Given the description of an element on the screen output the (x, y) to click on. 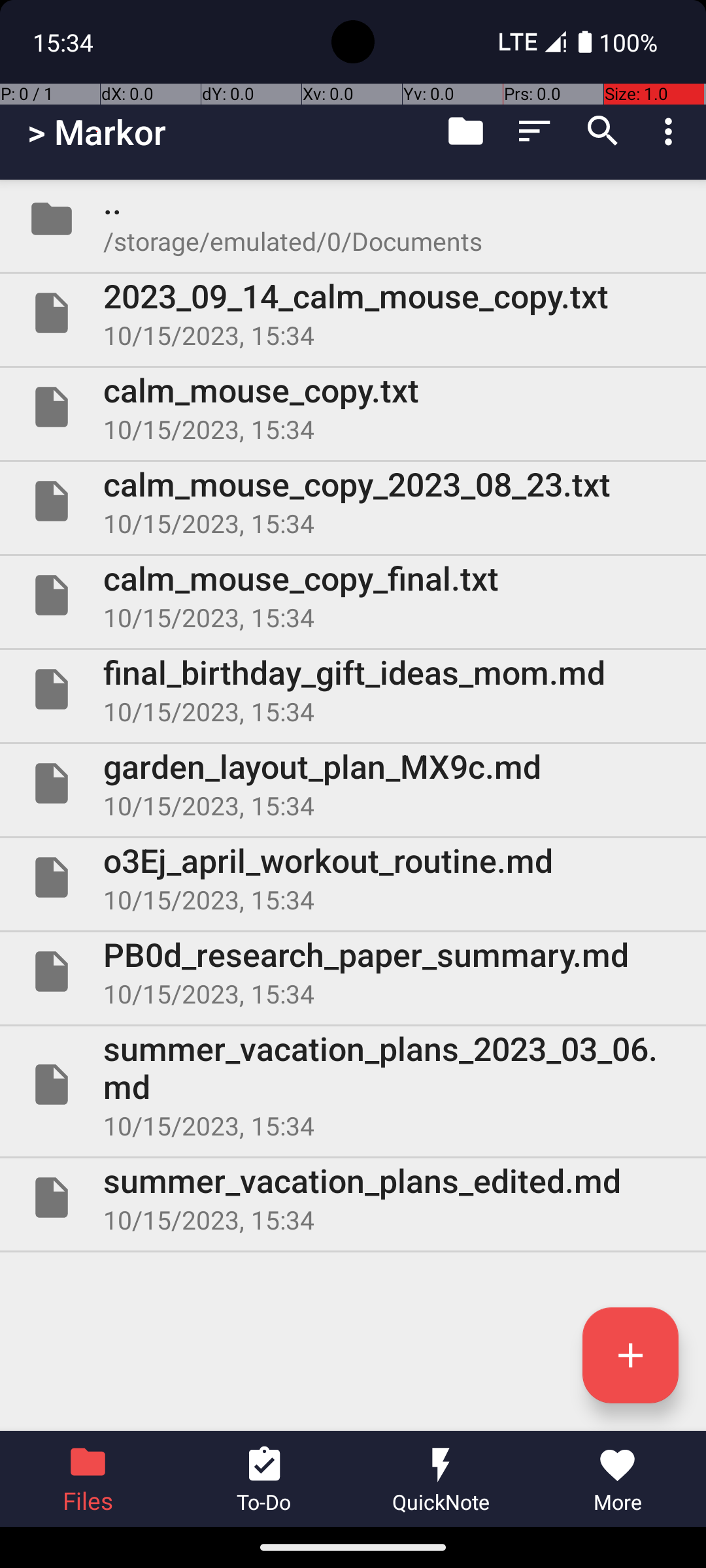
> Markor Element type: android.widget.TextView (96, 131)
Folder .. /storage/emulated/0 Element type: android.widget.LinearLayout (353, 218)
File 2023_09_14_calm_mouse_copy.txt 10/15/2023, 15:34 Element type: android.widget.LinearLayout (353, 312)
File calm_mouse_copy.txt 10/15/2023, 15:34 Element type: android.widget.LinearLayout (353, 406)
File calm_mouse_copy_2023_08_23.txt 10/15/2023, 15:34 Element type: android.widget.LinearLayout (353, 500)
File calm_mouse_copy_final.txt 10/15/2023, 15:34 Element type: android.widget.LinearLayout (353, 594)
File final_birthday_gift_ideas_mom.md  Element type: android.widget.LinearLayout (353, 689)
File garden_layout_plan_MX9c.md  Element type: android.widget.LinearLayout (353, 783)
File o3Ej_april_workout_routine.md  Element type: android.widget.LinearLayout (353, 877)
File PB0d_research_paper_summary.md  Element type: android.widget.LinearLayout (353, 971)
File summer_vacation_plans_2023_03_06.md  Element type: android.widget.LinearLayout (353, 1084)
File summer_vacation_plans_edited.md  Element type: android.widget.LinearLayout (353, 1197)
